Given the description of an element on the screen output the (x, y) to click on. 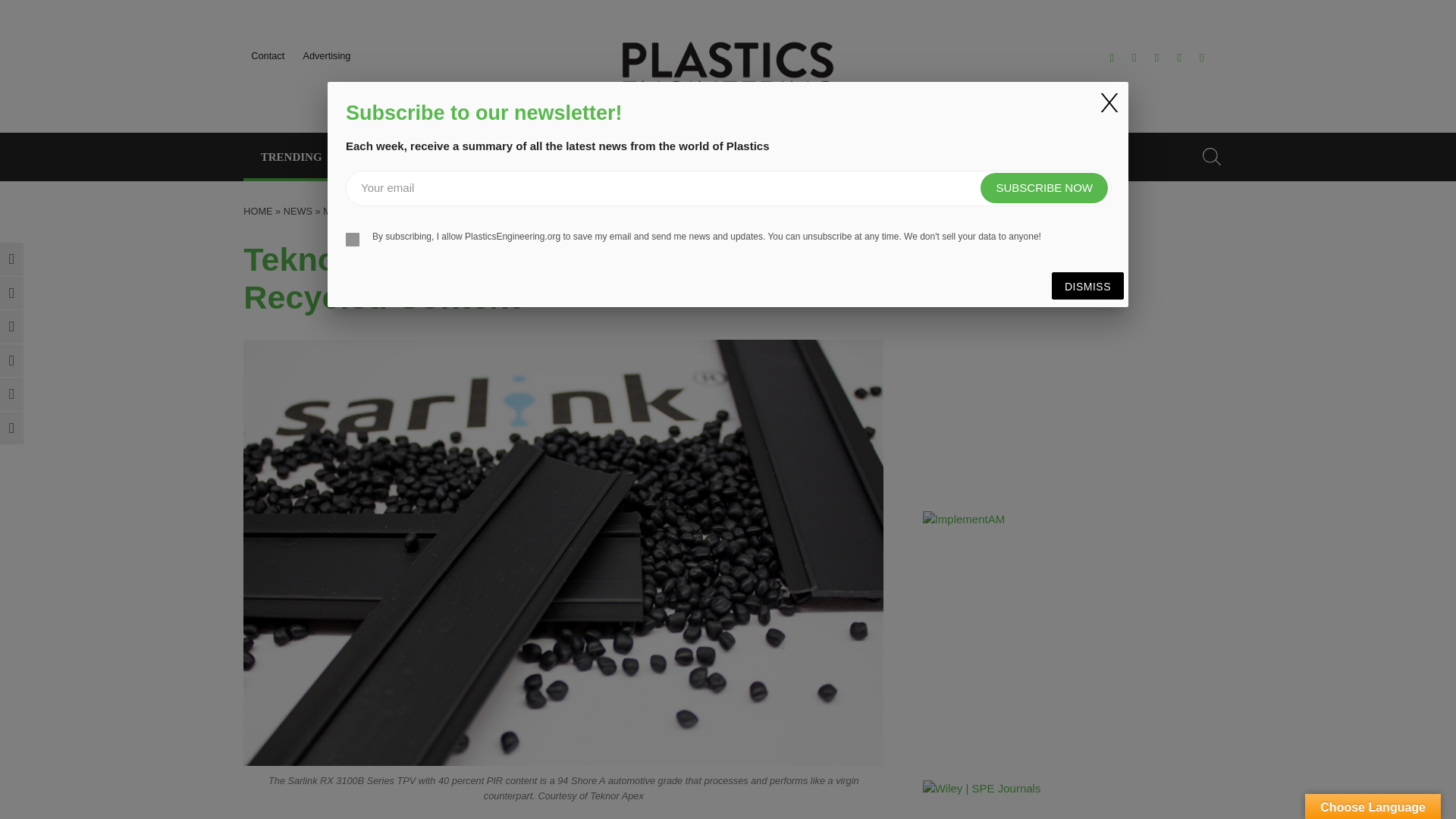
Advertising (326, 55)
Contact (266, 55)
TRENDING (291, 156)
INDUSTRY (385, 156)
MATERIALS (483, 156)
PROCESS (577, 156)
